Given the description of an element on the screen output the (x, y) to click on. 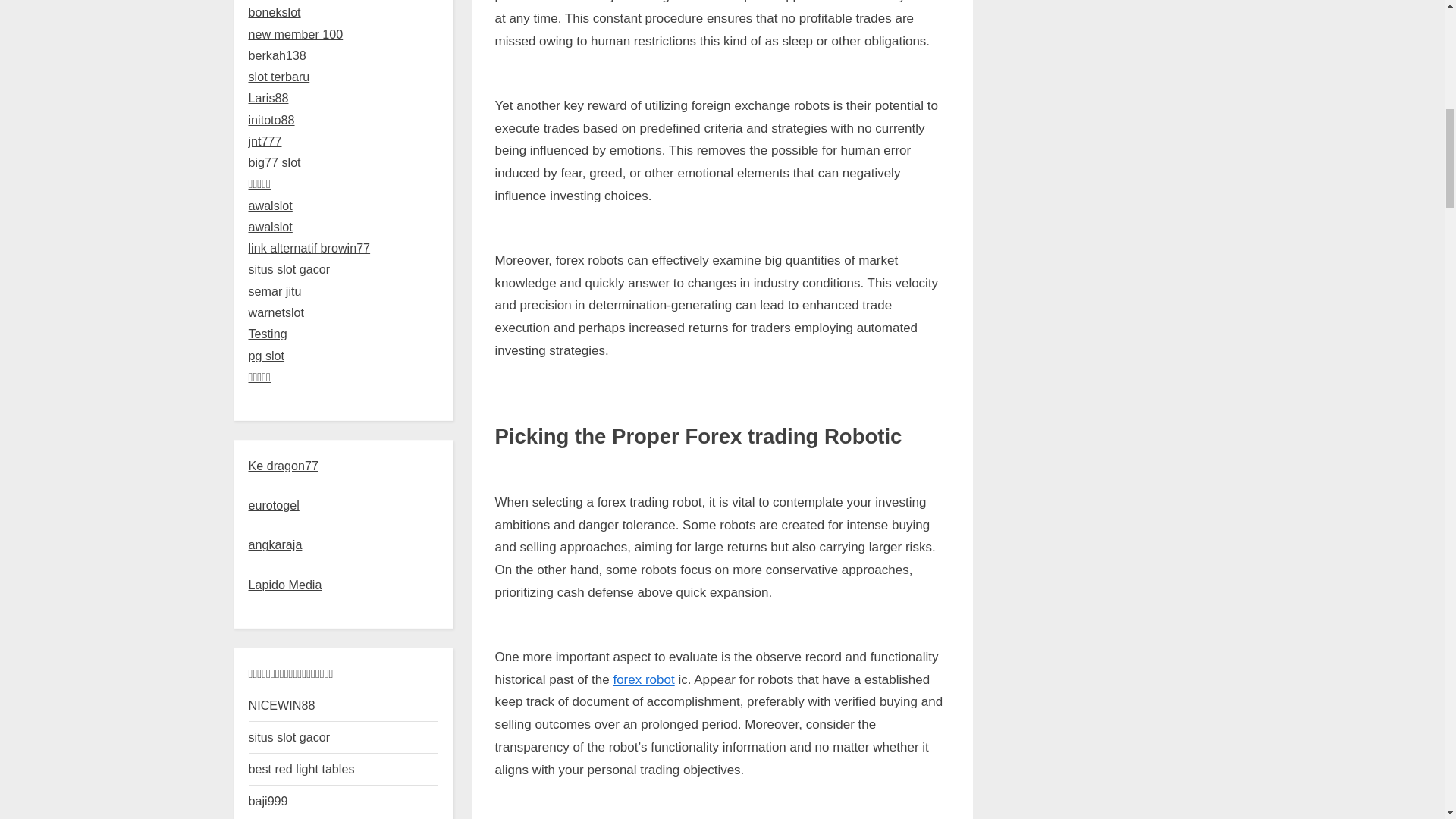
warnetslot (276, 312)
initoto88 (271, 119)
link alternatif browin77 (309, 247)
new member 100 (295, 33)
big77 slot (274, 161)
pg slot (266, 355)
jnt777 (265, 141)
awalslot (270, 205)
situs slot gacor (289, 269)
bonekslot (274, 11)
berkah138 (276, 55)
semar jitu (274, 291)
awalslot (270, 226)
Testing (267, 333)
slot terbaru (279, 76)
